Given the description of an element on the screen output the (x, y) to click on. 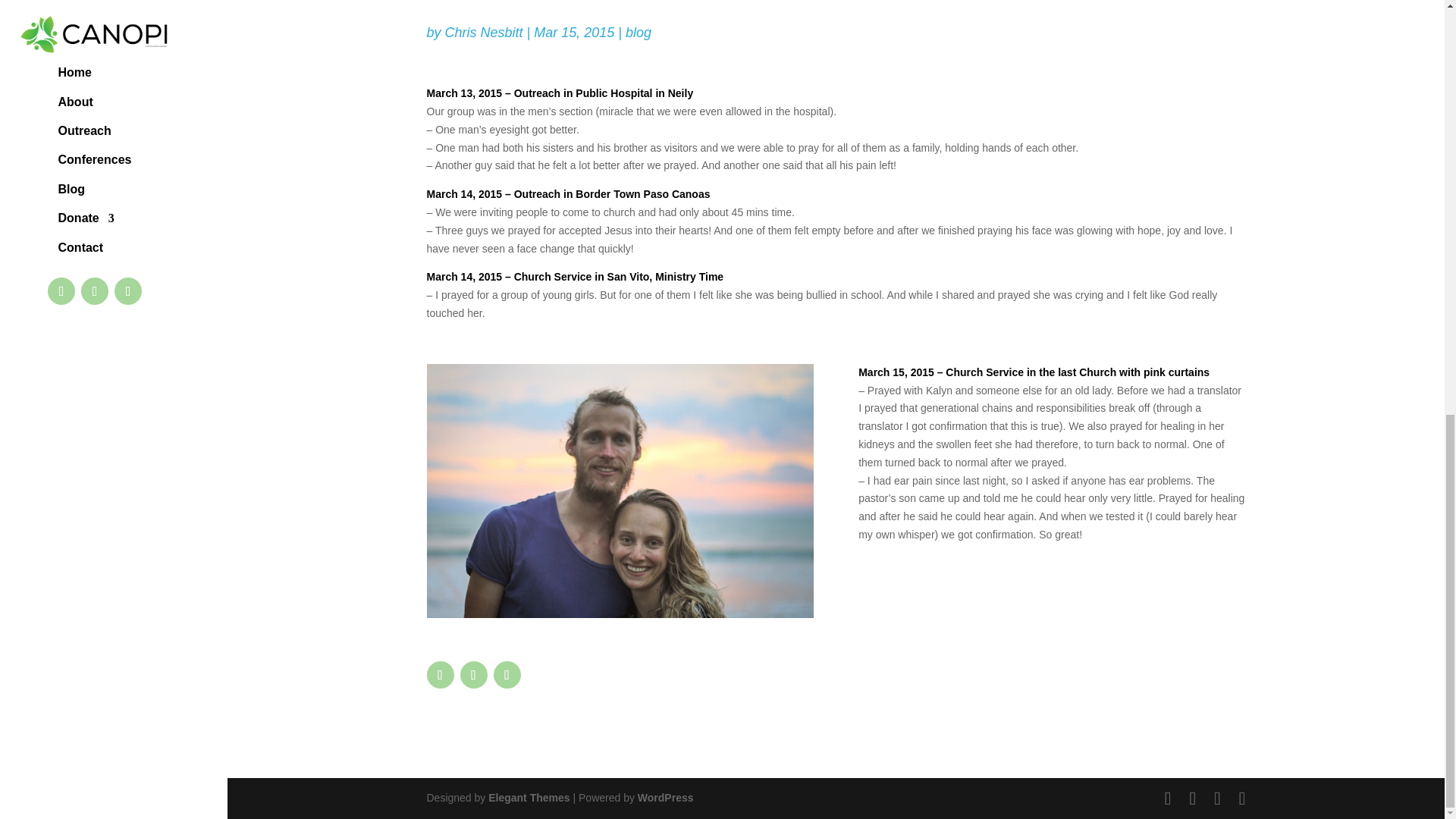
blog (638, 32)
Chris Nesbitt (483, 32)
Elegant Themes (528, 797)
Follow on Facebook (439, 674)
Follow on Twitter (473, 674)
WordPress (665, 797)
zurbriggen (619, 490)
Posts by Chris Nesbitt (483, 32)
Follow on Instagram (506, 674)
Premium WordPress Themes (528, 797)
